Given the description of an element on the screen output the (x, y) to click on. 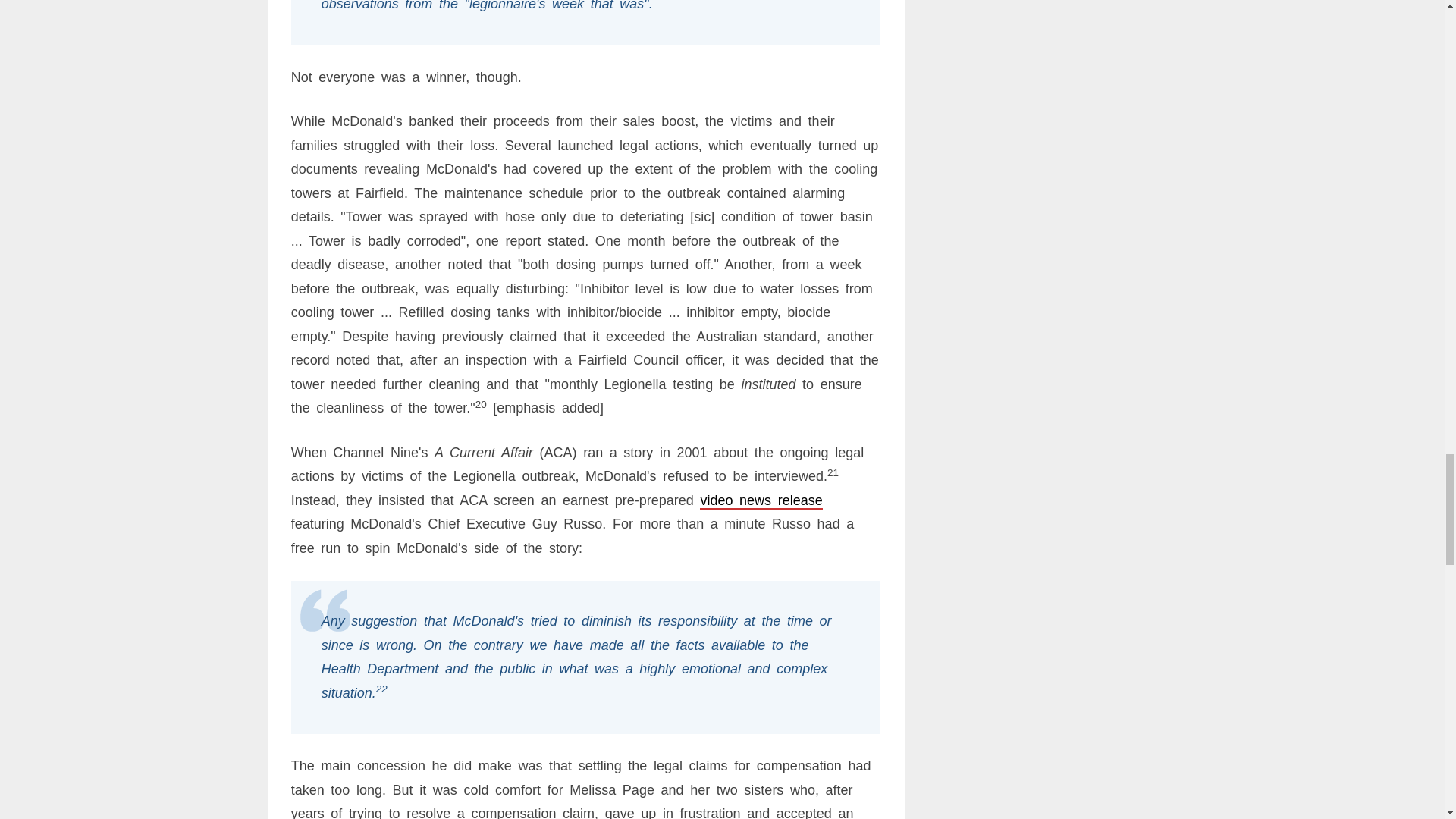
video news release (761, 500)
